Given the description of an element on the screen output the (x, y) to click on. 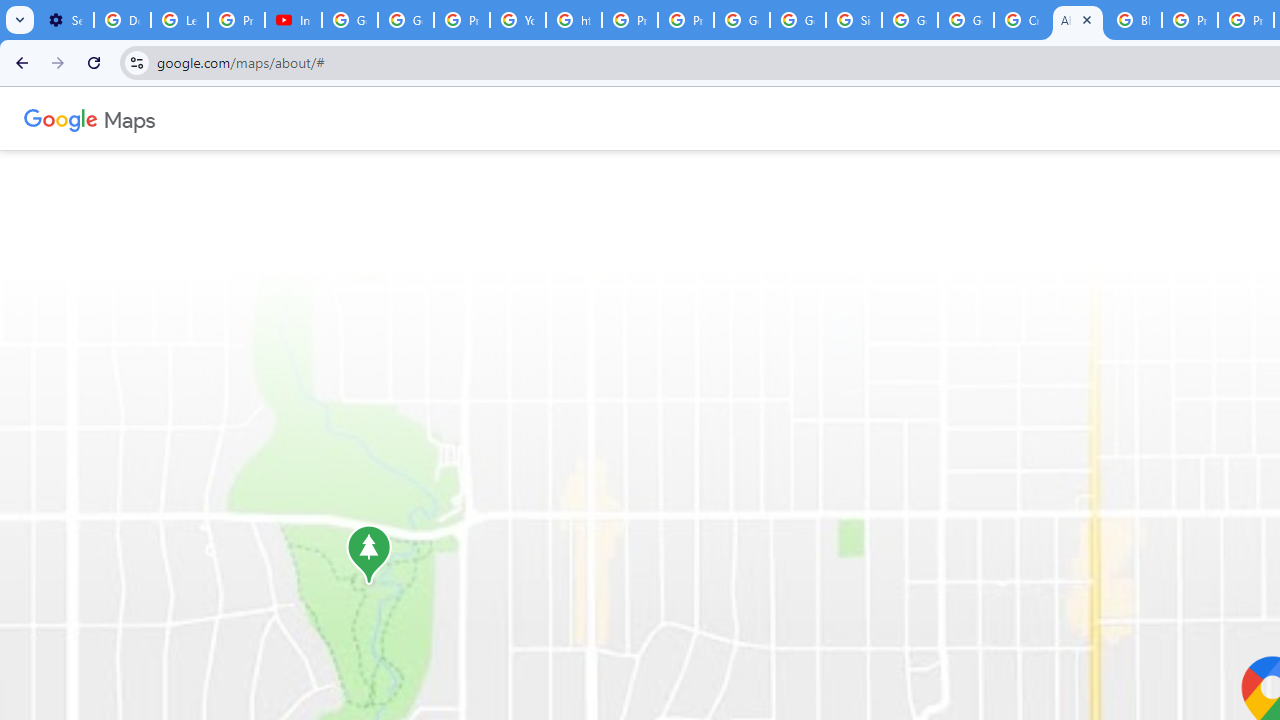
Google Account Help (349, 20)
Introduction | Google Privacy Policy - YouTube (293, 20)
YouTube (518, 20)
Sign in - Google Accounts (853, 20)
Learn how to find your photos - Google Photos Help (179, 20)
Privacy Help Center - Policies Help (629, 20)
Create your Google Account (1021, 20)
Settings - Customize profile (65, 20)
